Given the description of an element on the screen output the (x, y) to click on. 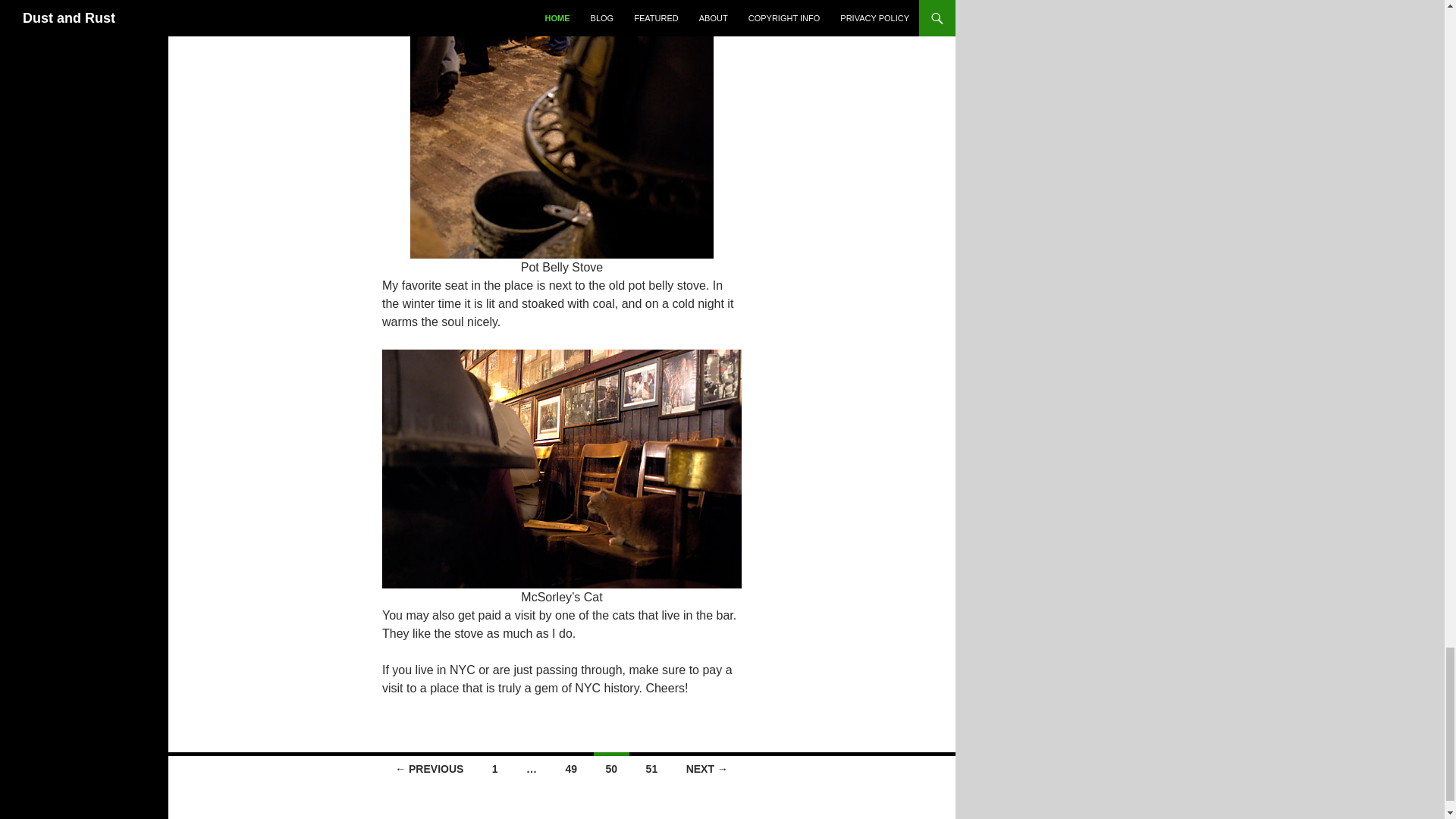
51 (651, 767)
49 (571, 767)
1 (495, 767)
